Given the description of an element on the screen output the (x, y) to click on. 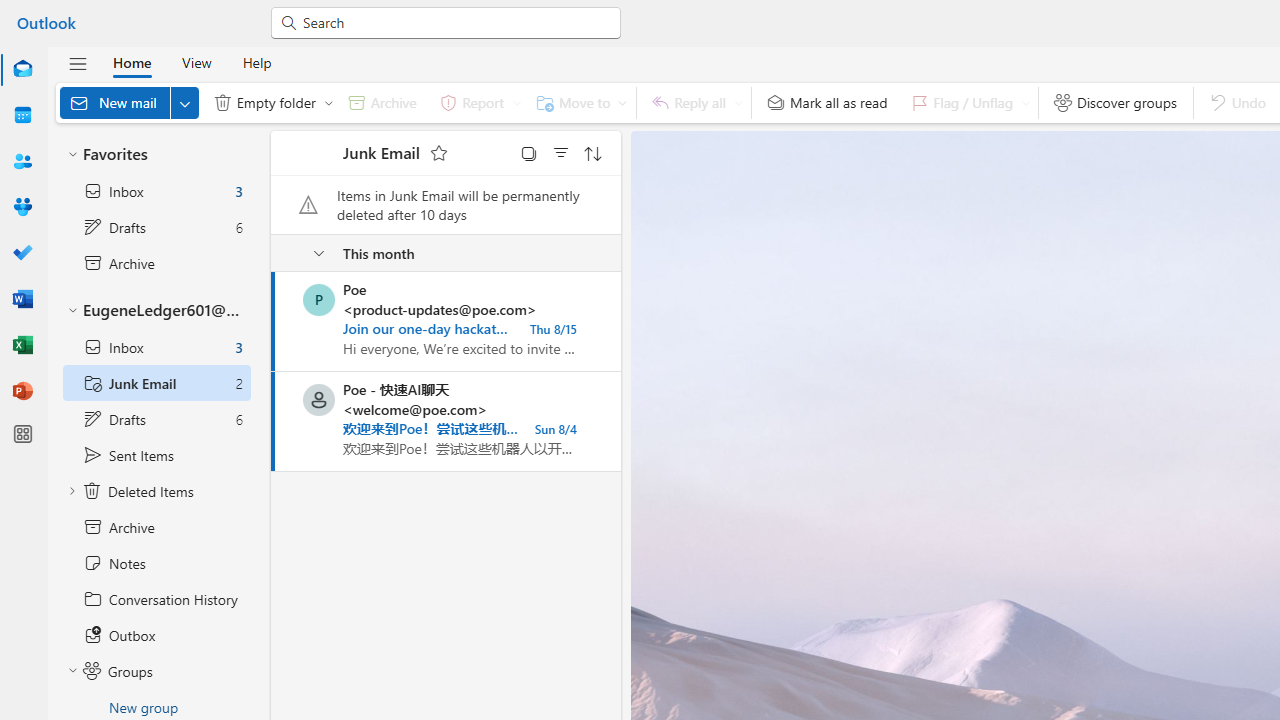
Calendar (22, 115)
Junk Email selected 2 items (156, 383)
Archive (156, 527)
People (22, 161)
Excel (22, 345)
